Given the description of an element on the screen output the (x, y) to click on. 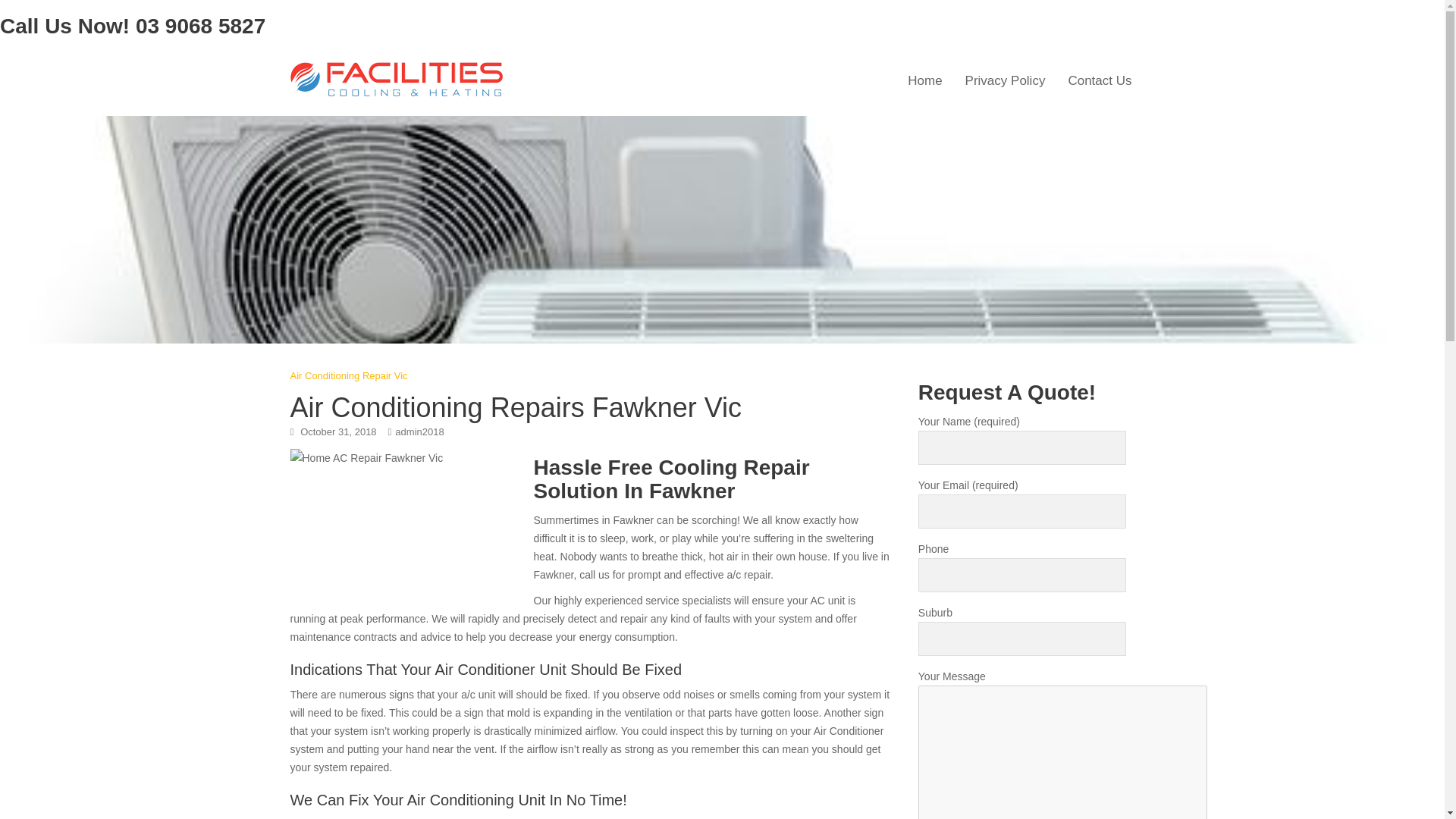
admin2018 (419, 431)
October 31, 2018 (337, 431)
Privacy Policy (1005, 80)
03 9068 5827 (199, 25)
Home (924, 80)
Air Conditioning Repair Vic (348, 375)
Contact Us (1099, 80)
